Given the description of an element on the screen output the (x, y) to click on. 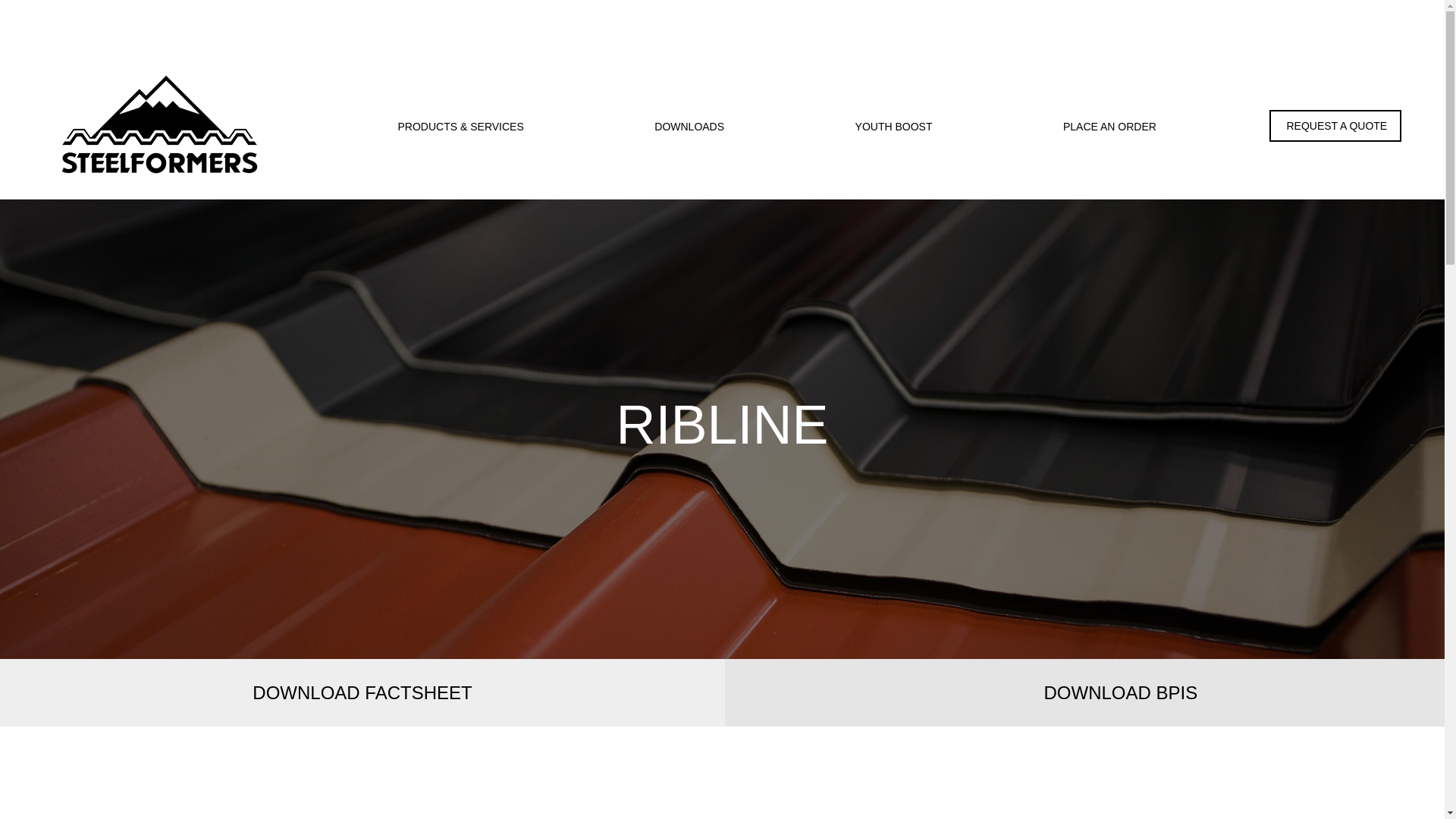
DOWNLOAD BPIS (1119, 692)
DOWNLOAD FACTSHEET (361, 692)
PLACE AN ORDER (1053, 126)
REQUEST A QUOTE (1334, 125)
YOUTH BOOST (838, 126)
